Given the description of an element on the screen output the (x, y) to click on. 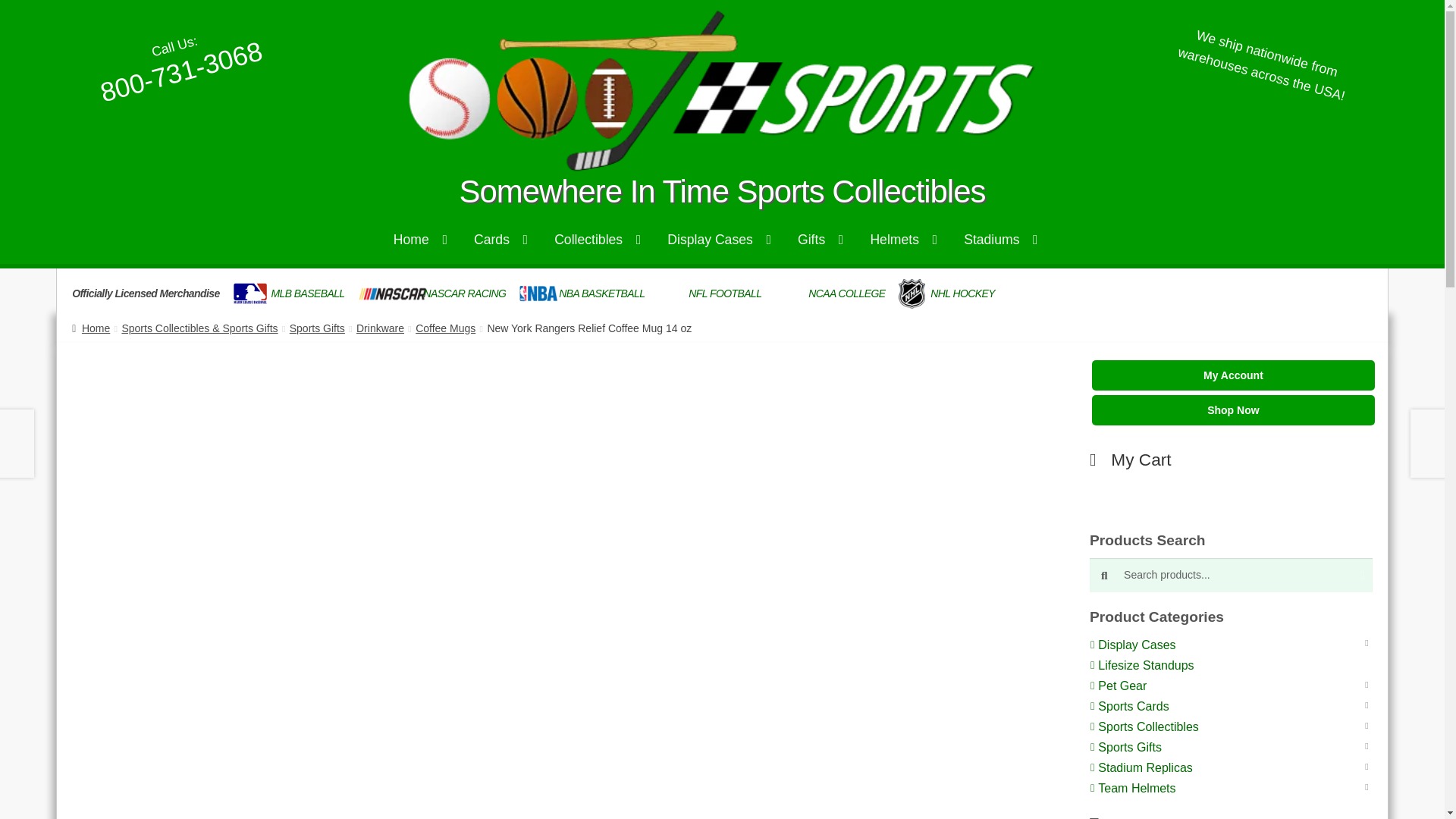
800-731-3068 (180, 51)
Display Cases (1140, 645)
Gifts (820, 238)
Home (420, 238)
Swit Sports (721, 89)
Lifesize Standups (1141, 665)
Pet Gear (1125, 686)
Display Cases (718, 238)
Cards (500, 238)
